Given the description of an element on the screen output the (x, y) to click on. 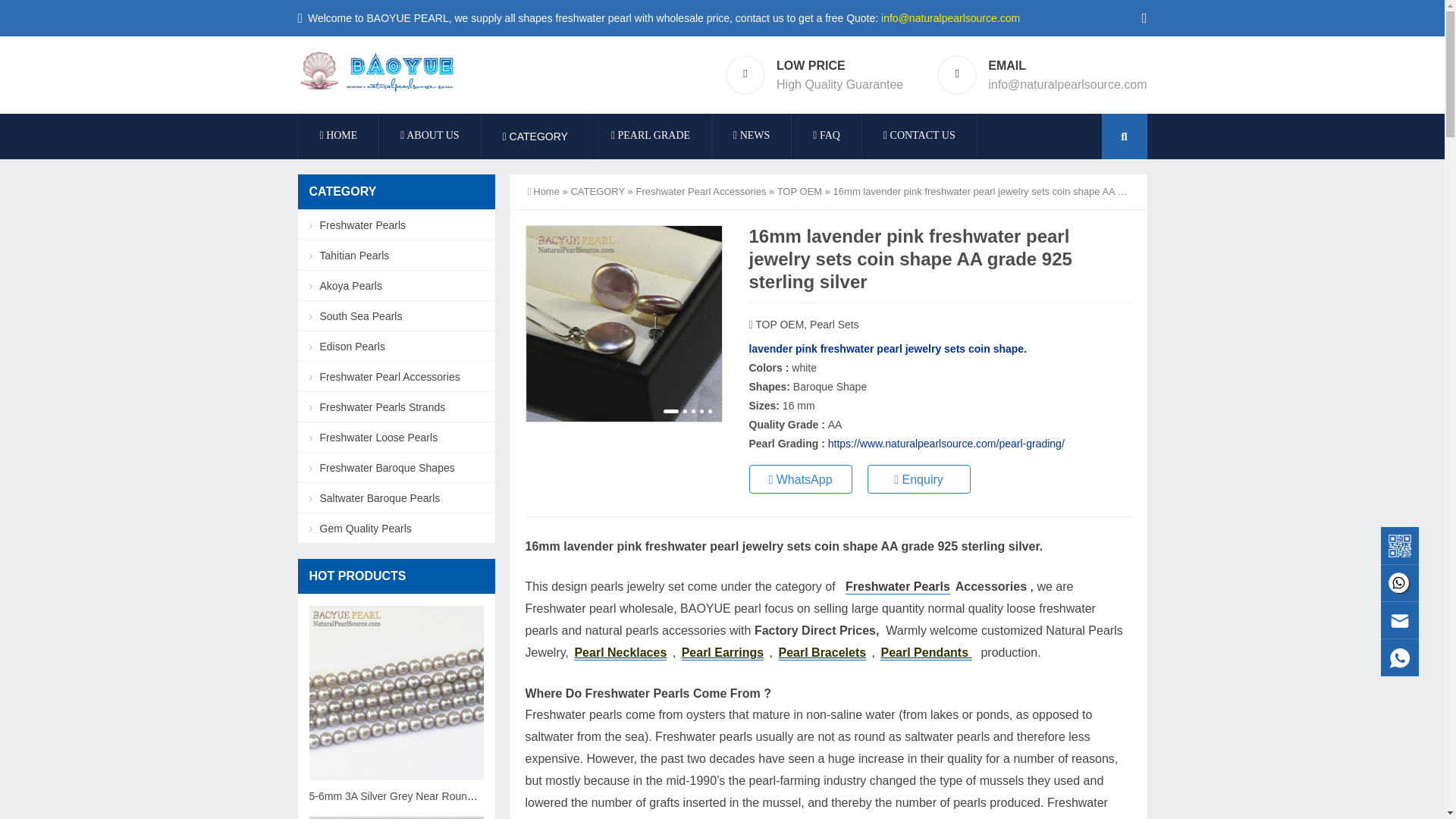
5-6mm 3A Silver Grey  Near Round pearl (395, 693)
NEWS (750, 135)
CATEGORY (535, 135)
HOME (338, 135)
FAQ (826, 135)
4-5mm Potato AA grade Freshwater Natural pearl wholesale (395, 817)
ABOUT US (429, 135)
CONTACT US (918, 135)
PEARL GRADE (650, 135)
Freshwater Pearls (897, 586)
